Given the description of an element on the screen output the (x, y) to click on. 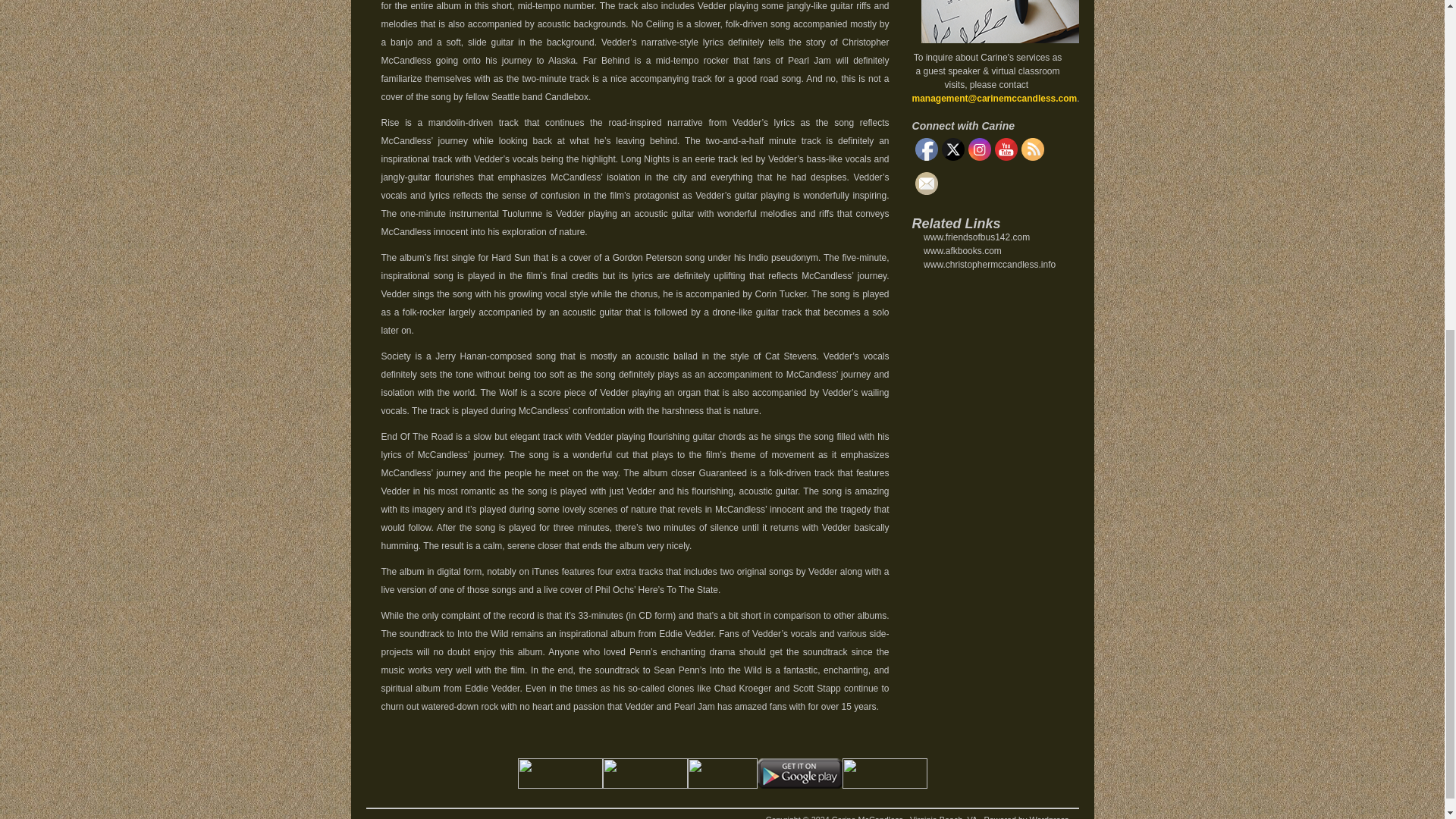
Follow by Email (925, 182)
www.friendsofbus142.com (976, 236)
RSS (1031, 149)
YouTube (1005, 149)
Instagram (979, 149)
www.christophermccandless.info (989, 264)
Twitter (952, 149)
Facebook (925, 149)
www.afkbooks.com (962, 250)
